Given the description of an element on the screen output the (x, y) to click on. 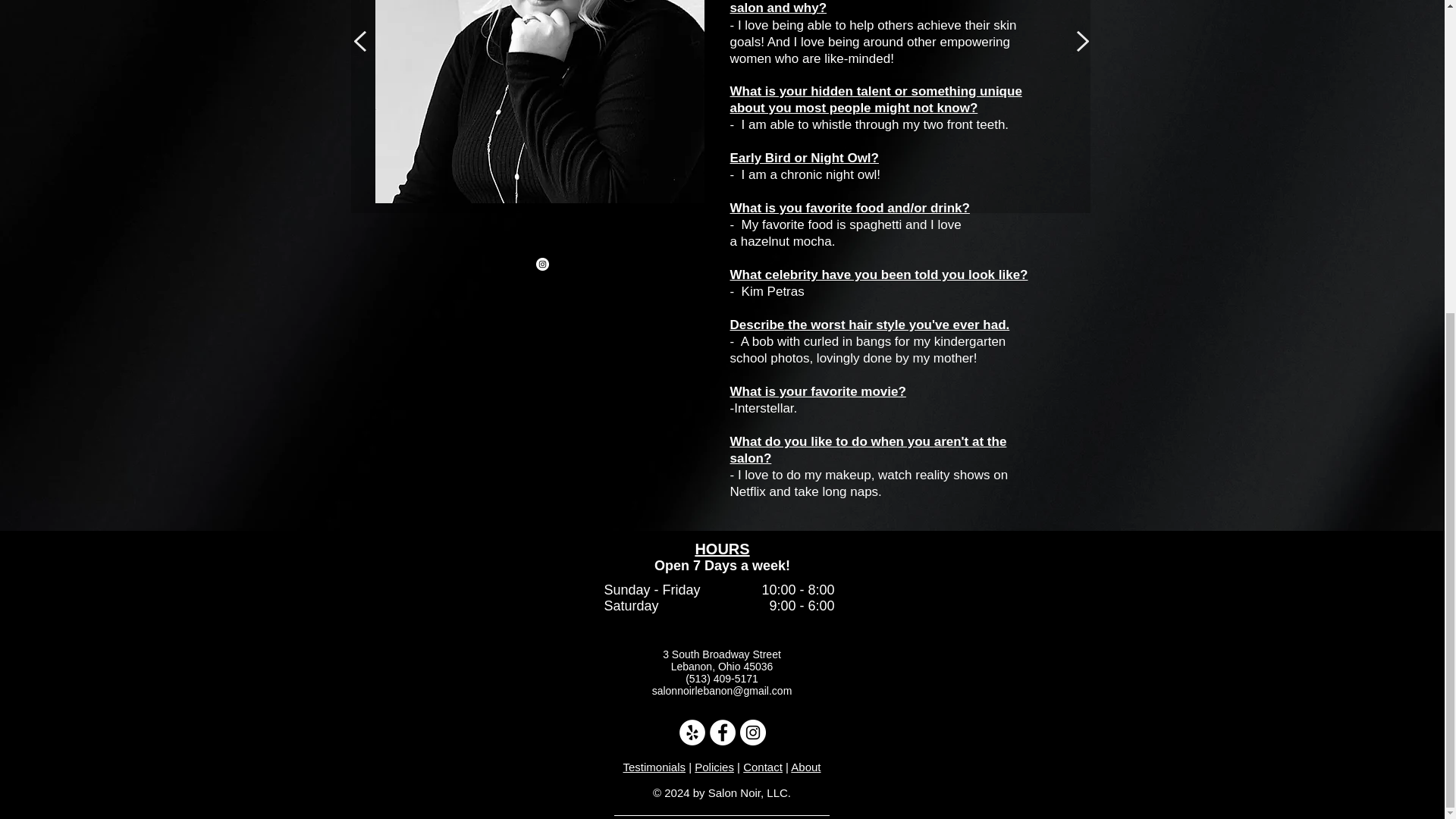
Testimonials (654, 766)
About (805, 766)
Policies (713, 766)
Contact (762, 766)
